Given the description of an element on the screen output the (x, y) to click on. 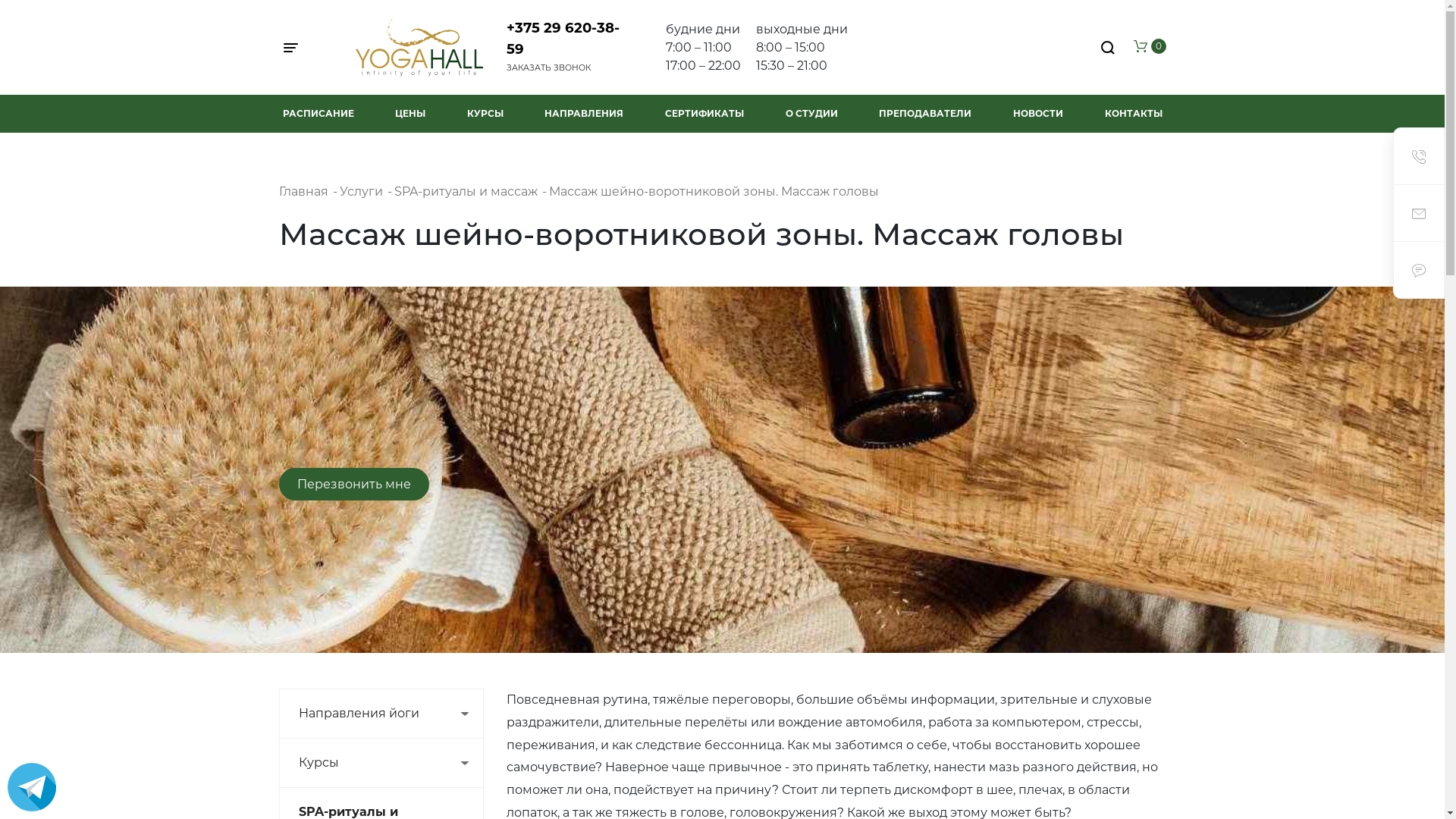
0 Element type: text (1148, 45)
0 Element type: text (1148, 46)
+375 29 620-38-59 Element type: text (562, 37)
Toggle navigation Element type: text (293, 47)
Toggle navigation Element type: text (298, 47)
